Given the description of an element on the screen output the (x, y) to click on. 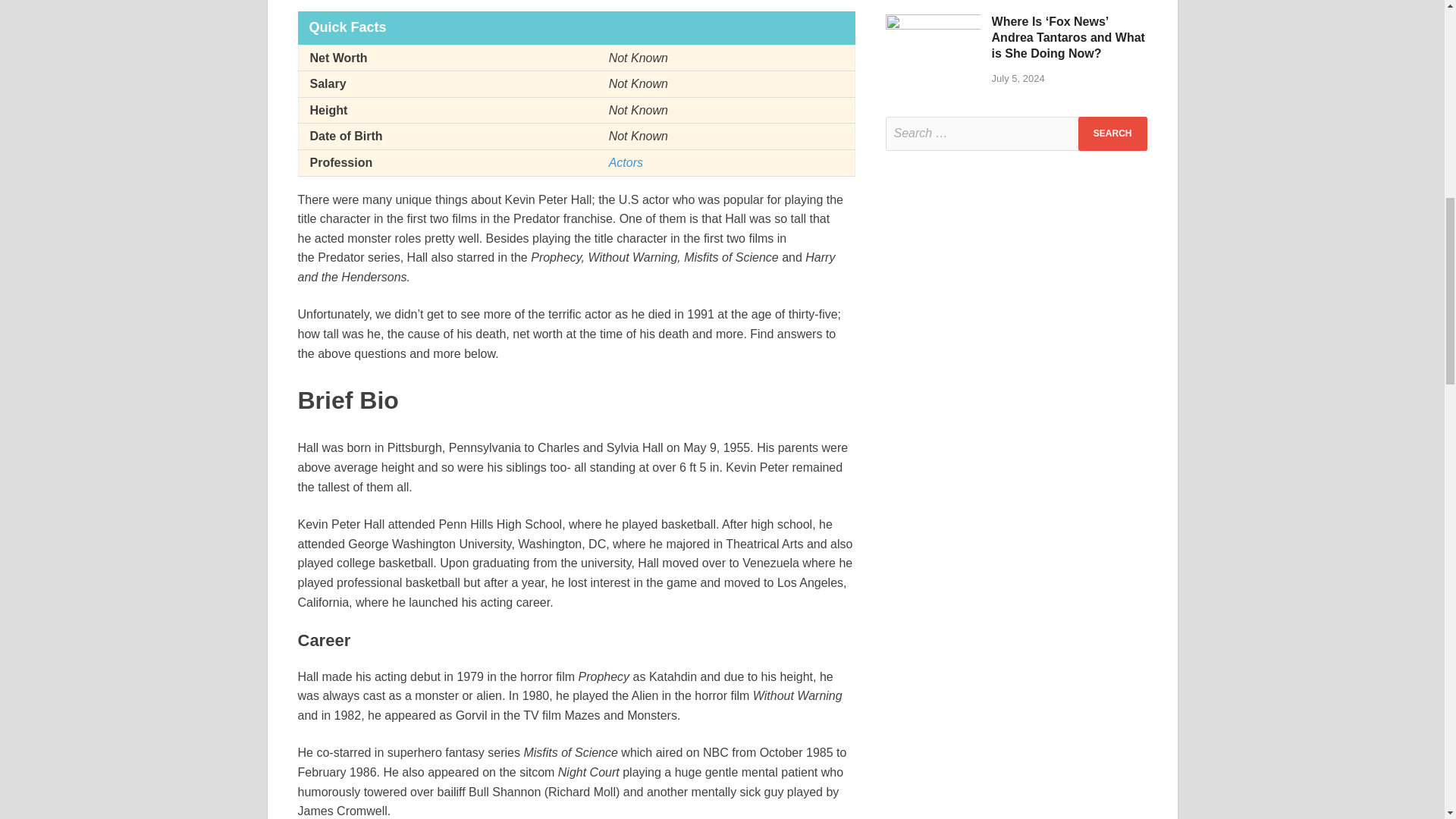
Search (1112, 133)
Search (1112, 133)
Actors (625, 162)
